Given the description of an element on the screen output the (x, y) to click on. 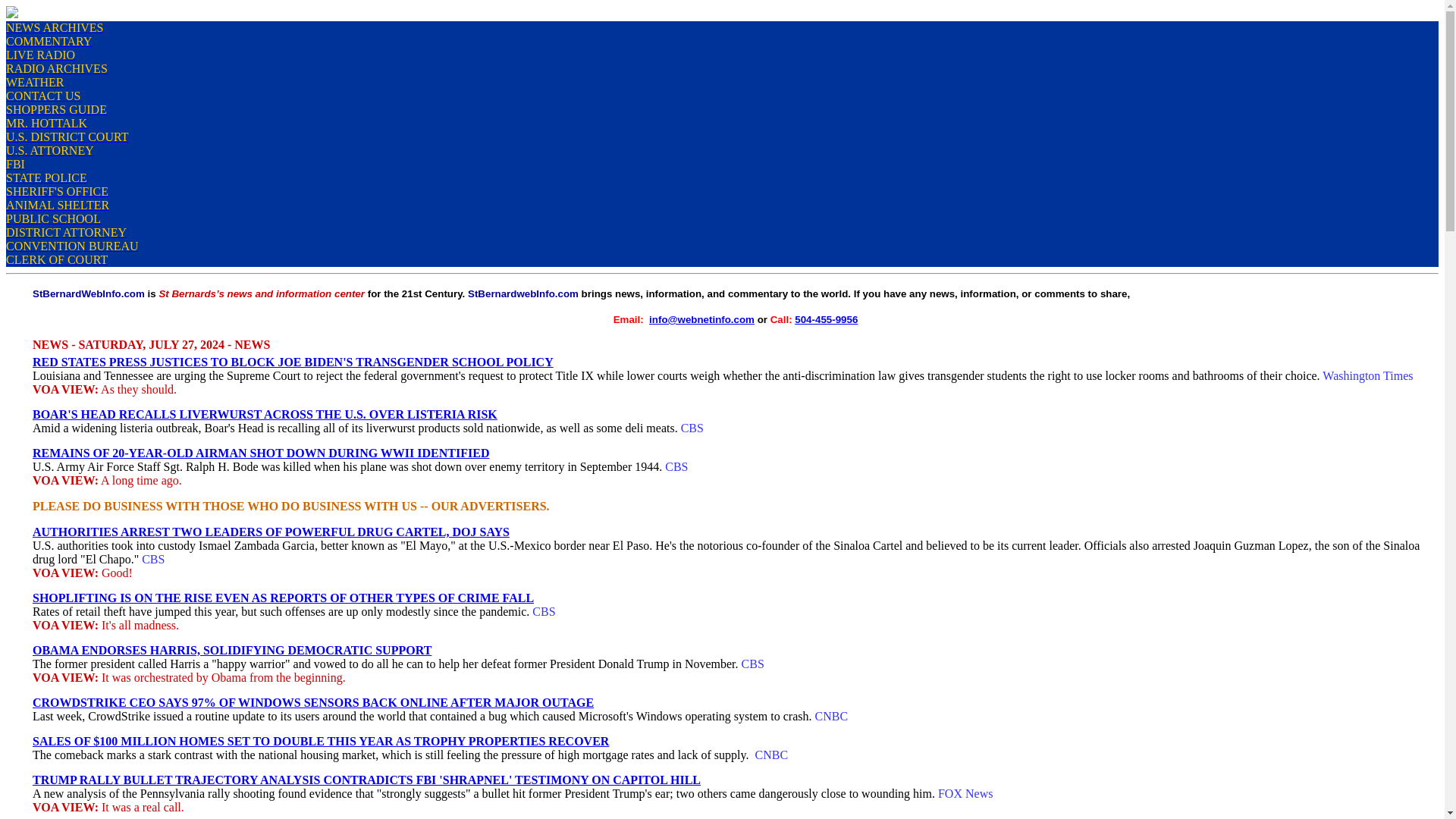
OBAMA ENDORSES HARRIS, SOLIDIFYING DEMOCRATIC SUPPORT (231, 649)
504-455-9956 (825, 319)
